Given the description of an element on the screen output the (x, y) to click on. 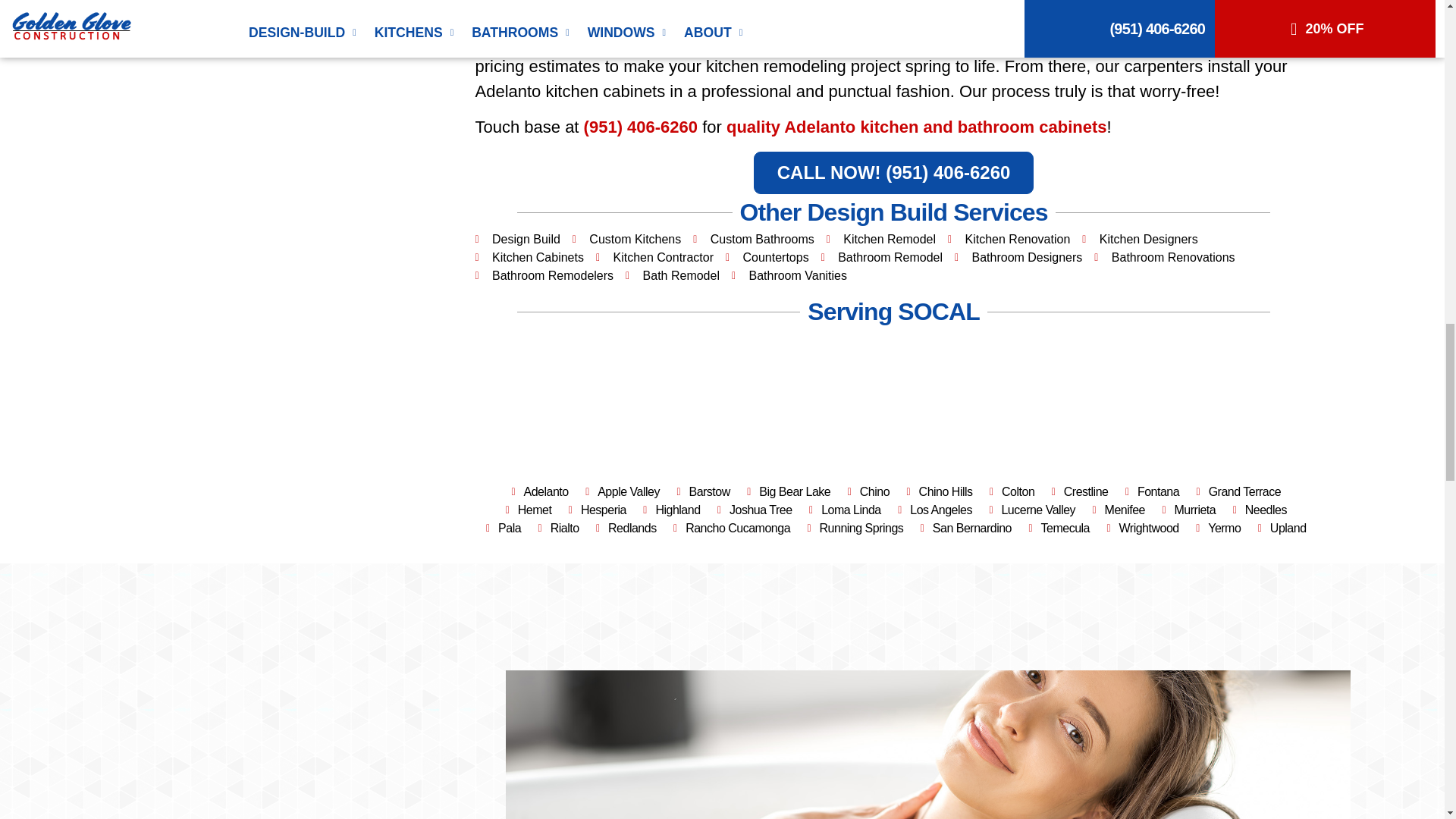
adelanto, ca (892, 405)
